Given the description of an element on the screen output the (x, y) to click on. 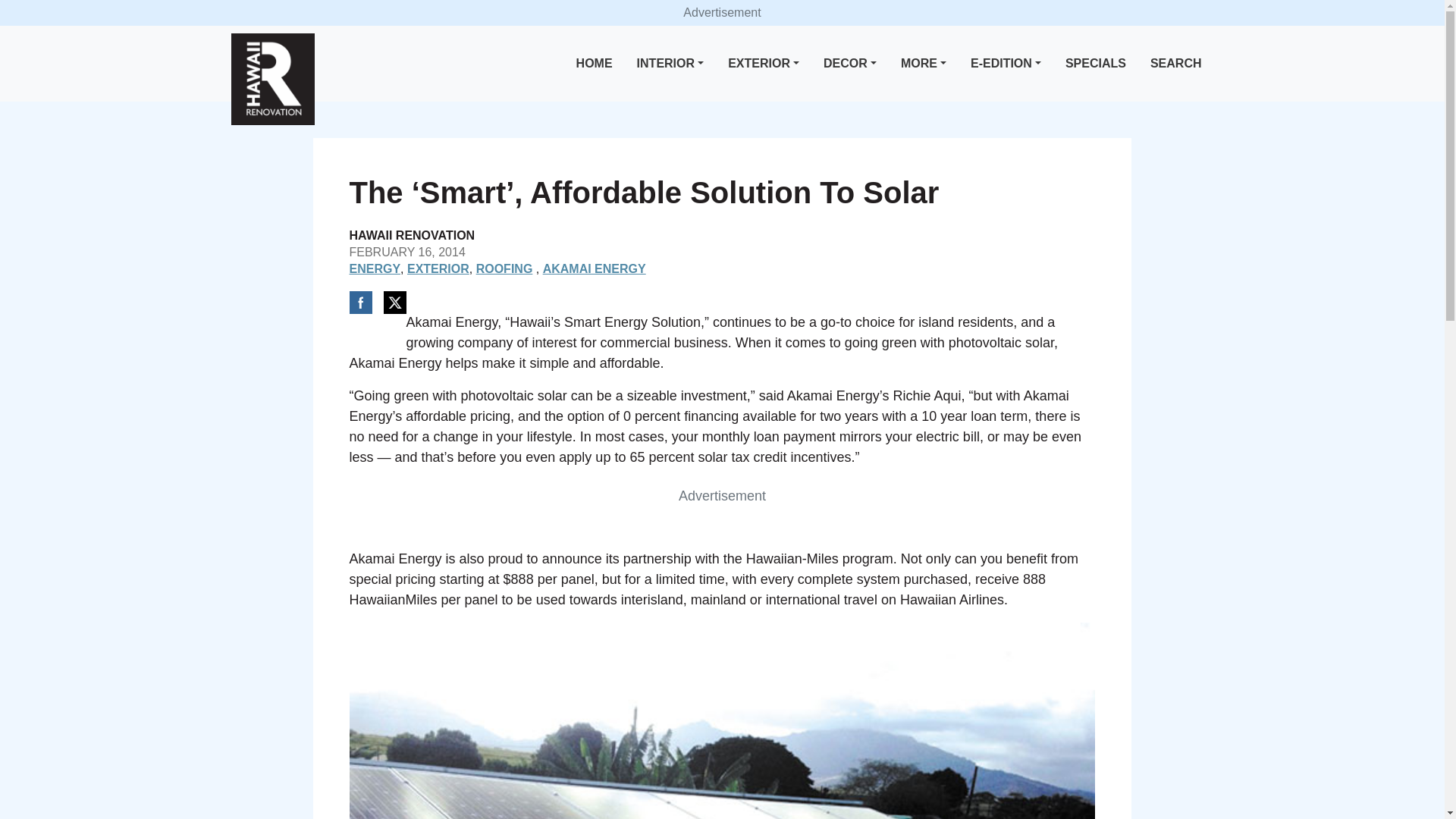
EXTERIOR (437, 268)
E-EDITION (1004, 63)
Hawaii Renovation (272, 79)
AKAMAI ENERGY (594, 268)
Facebook (360, 302)
Twitter (395, 302)
SPECIALS (1095, 63)
ENERGY (374, 268)
ROOFING (504, 268)
INTERIOR (670, 63)
DECOR (849, 63)
EXTERIOR (763, 63)
MORE (923, 63)
HOME (594, 63)
SEARCH (1176, 63)
